Given the description of an element on the screen output the (x, y) to click on. 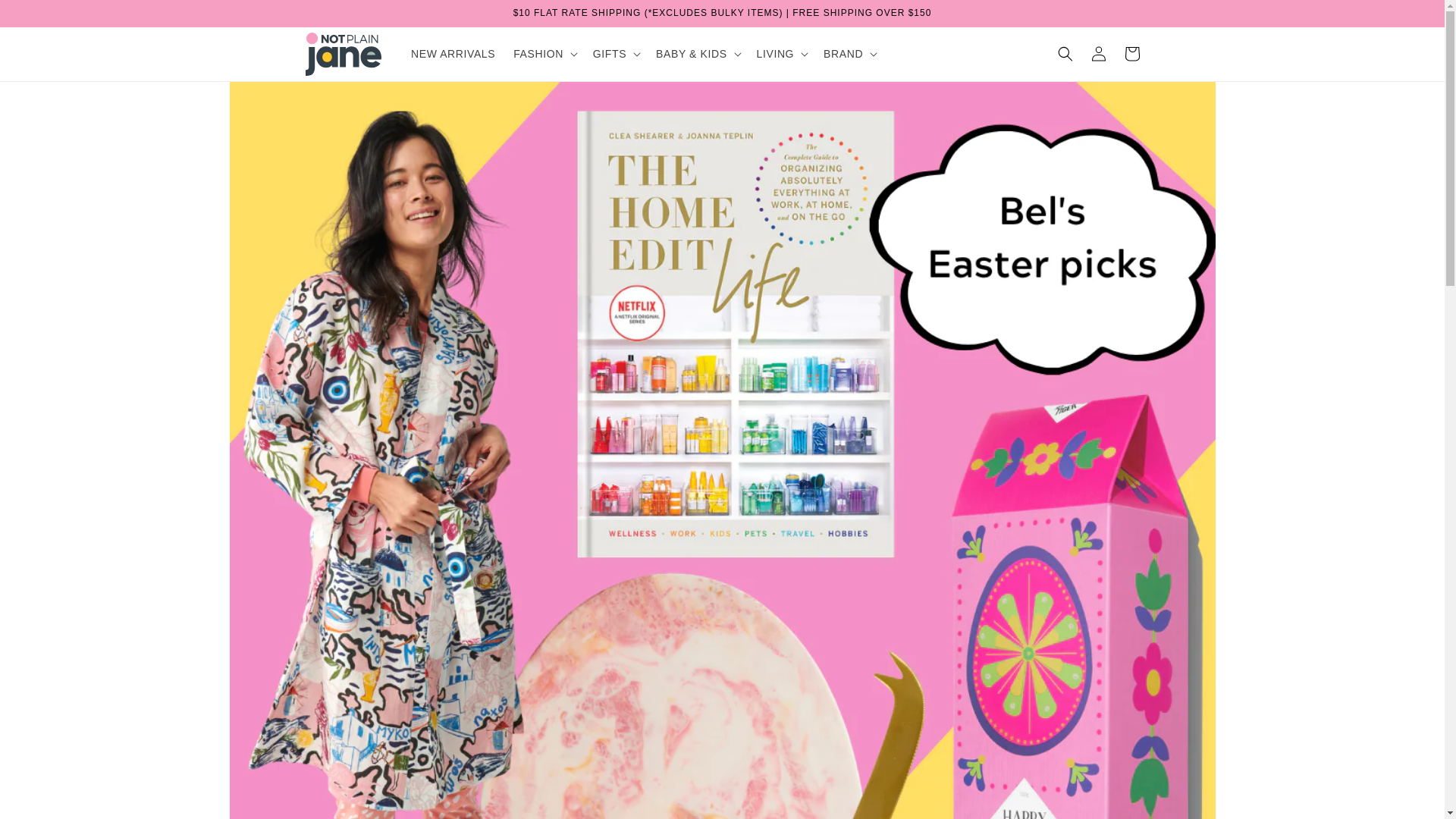
Skip to content (45, 17)
